Given the description of an element on the screen output the (x, y) to click on. 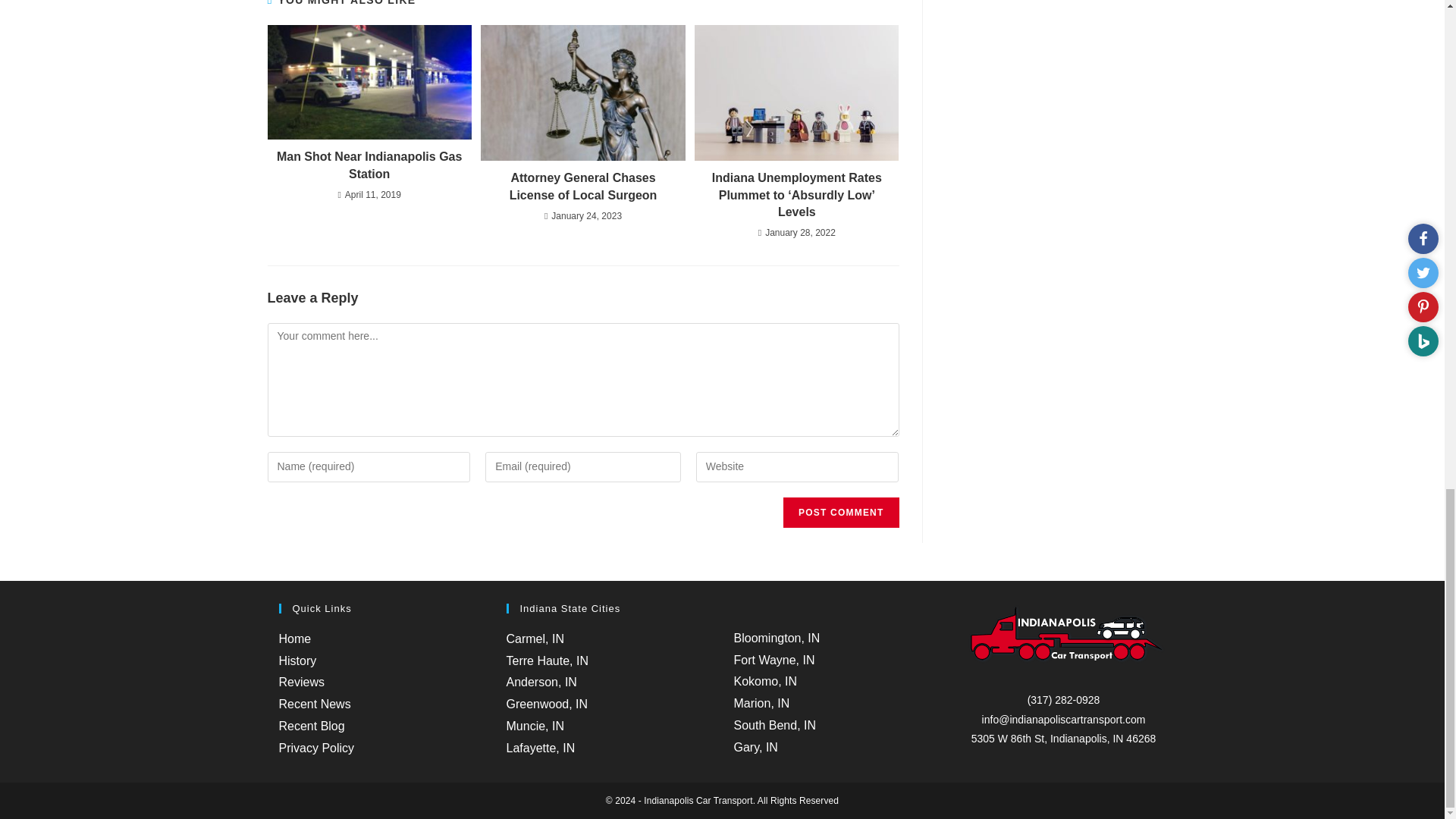
Post Comment (840, 512)
Indianapolis Car Transport (1063, 639)
